Given the description of an element on the screen output the (x, y) to click on. 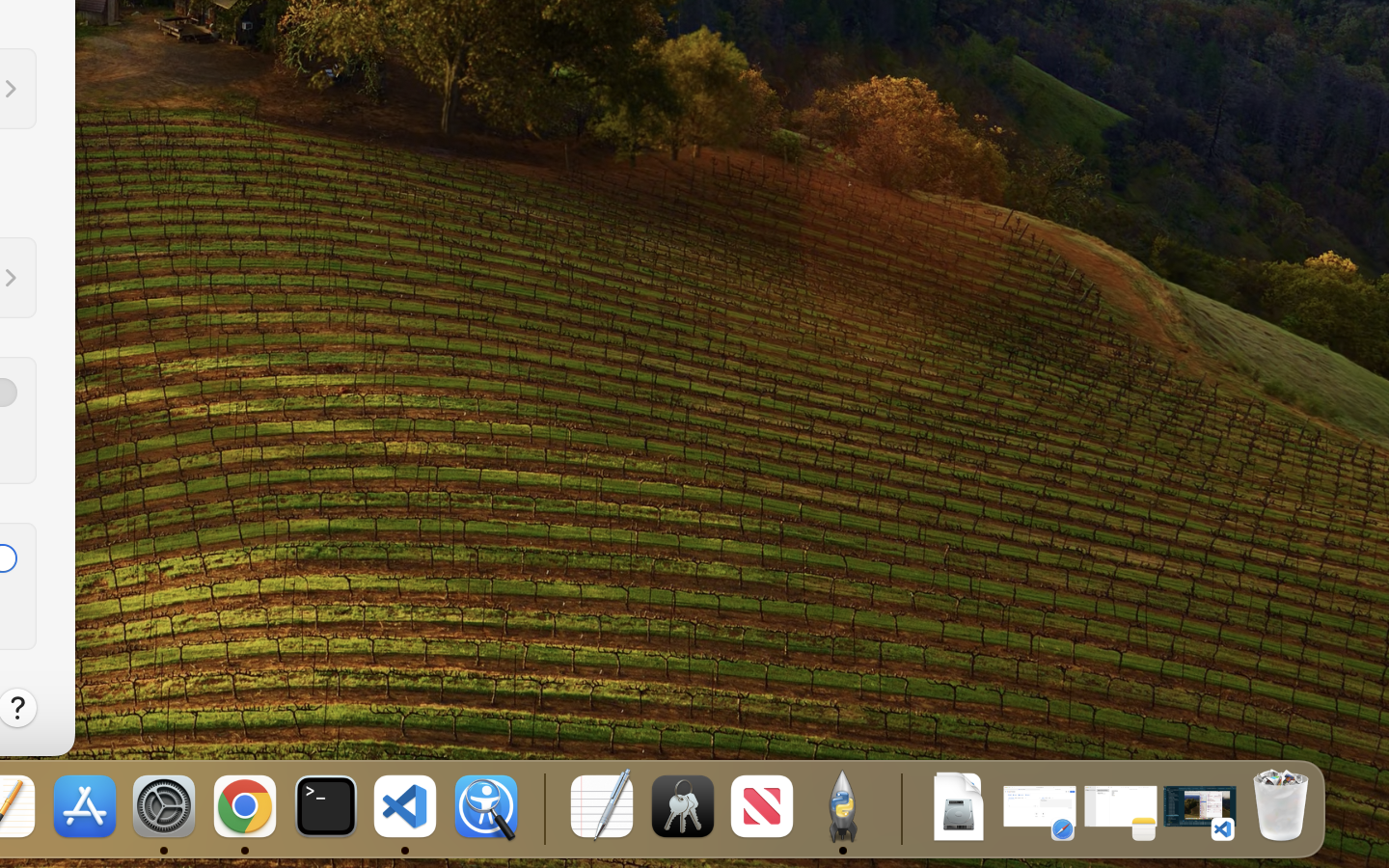
0.4285714328289032 Element type: AXDockItem (541, 807)
